Given the description of an element on the screen output the (x, y) to click on. 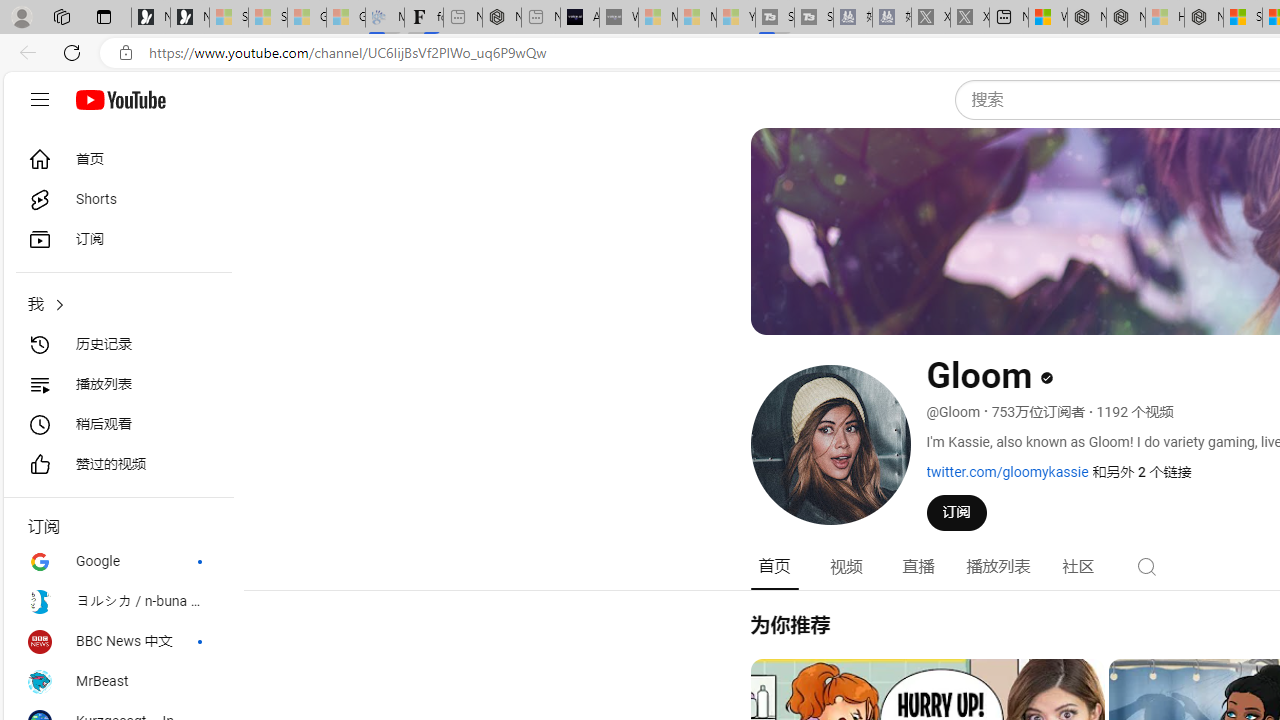
What's the best AI voice generator? - voice.ai - Sleeping (618, 17)
